Given the description of an element on the screen output the (x, y) to click on. 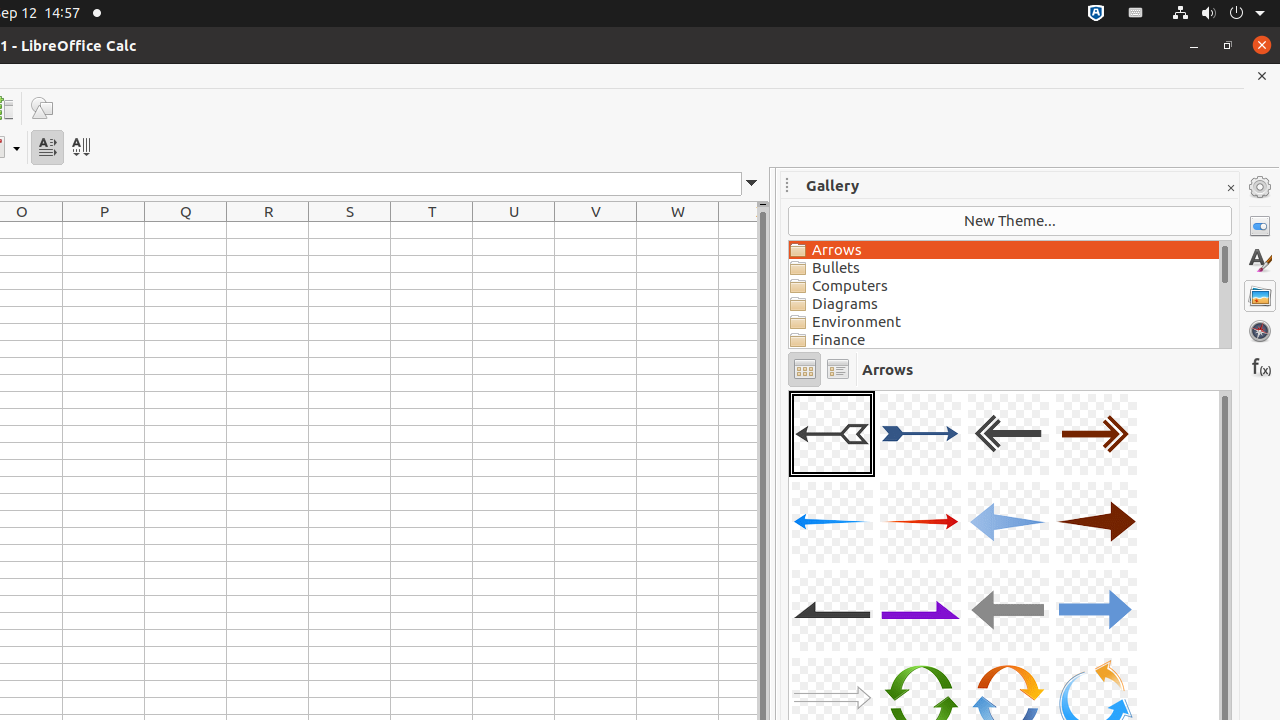
A07-Arrow-LightBlue-Left Element type: list-item (1008, 522)
Computers Element type: list-item (1004, 286)
A10-Arrow-Purple-Right Element type: list-item (920, 610)
A06-Arrow-Red-Right Element type: list-item (920, 522)
Detailed View Element type: toggle-button (837, 369)
